Given the description of an element on the screen output the (x, y) to click on. 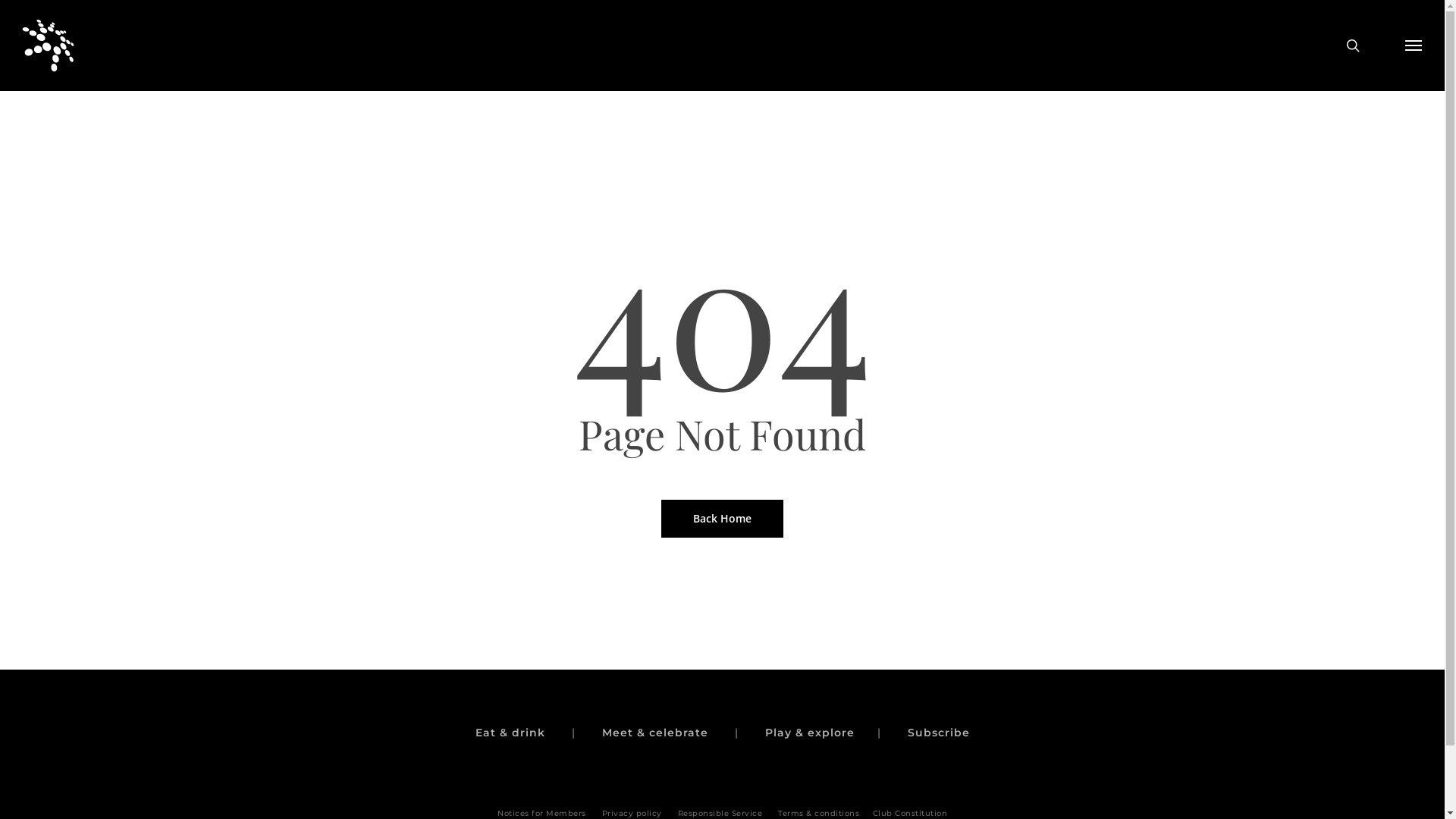
Play & explore Element type: text (808, 732)
search Element type: text (1354, 45)
Terms & conditions Element type: text (818, 813)
Meet & celebrate Element type: text (655, 732)
Club Constitution Element type: text (909, 813)
Responsible Service Element type: text (719, 813)
Subscribe Element type: text (937, 732)
Back Home Element type: text (722, 517)
Notices for Members Element type: text (541, 813)
Privacy policy Element type: text (632, 813)
Eat & drink Element type: text (509, 732)
Menu Element type: text (1413, 45)
